Given the description of an element on the screen output the (x, y) to click on. 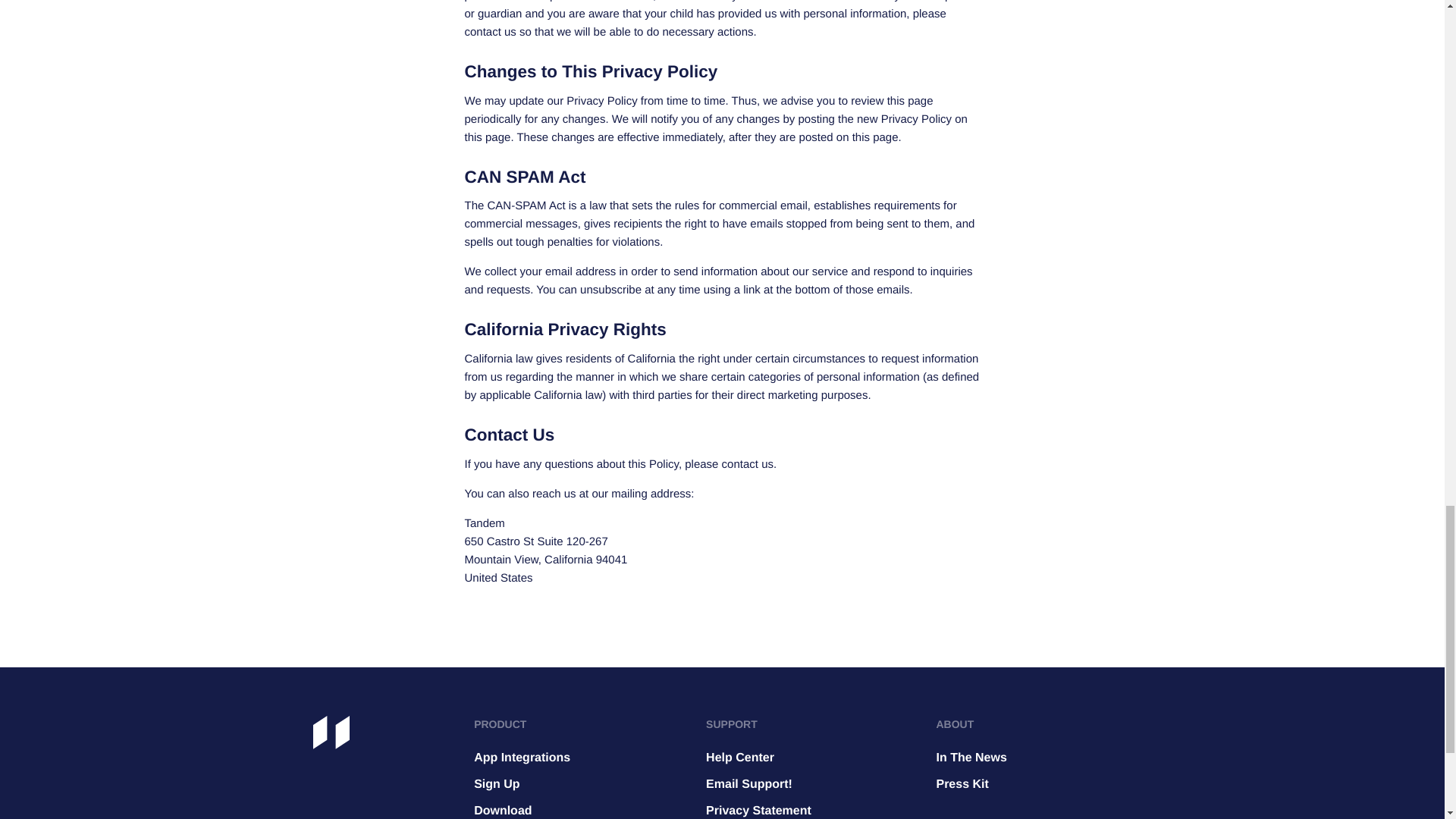
Sign Up (527, 784)
Email Support! (758, 784)
Sign Up (527, 784)
App Integrations (527, 757)
App Integrations (527, 757)
Download (527, 808)
Help Center (758, 757)
In The News (971, 757)
Email Support! (758, 784)
Privacy Statement (758, 808)
